Given the description of an element on the screen output the (x, y) to click on. 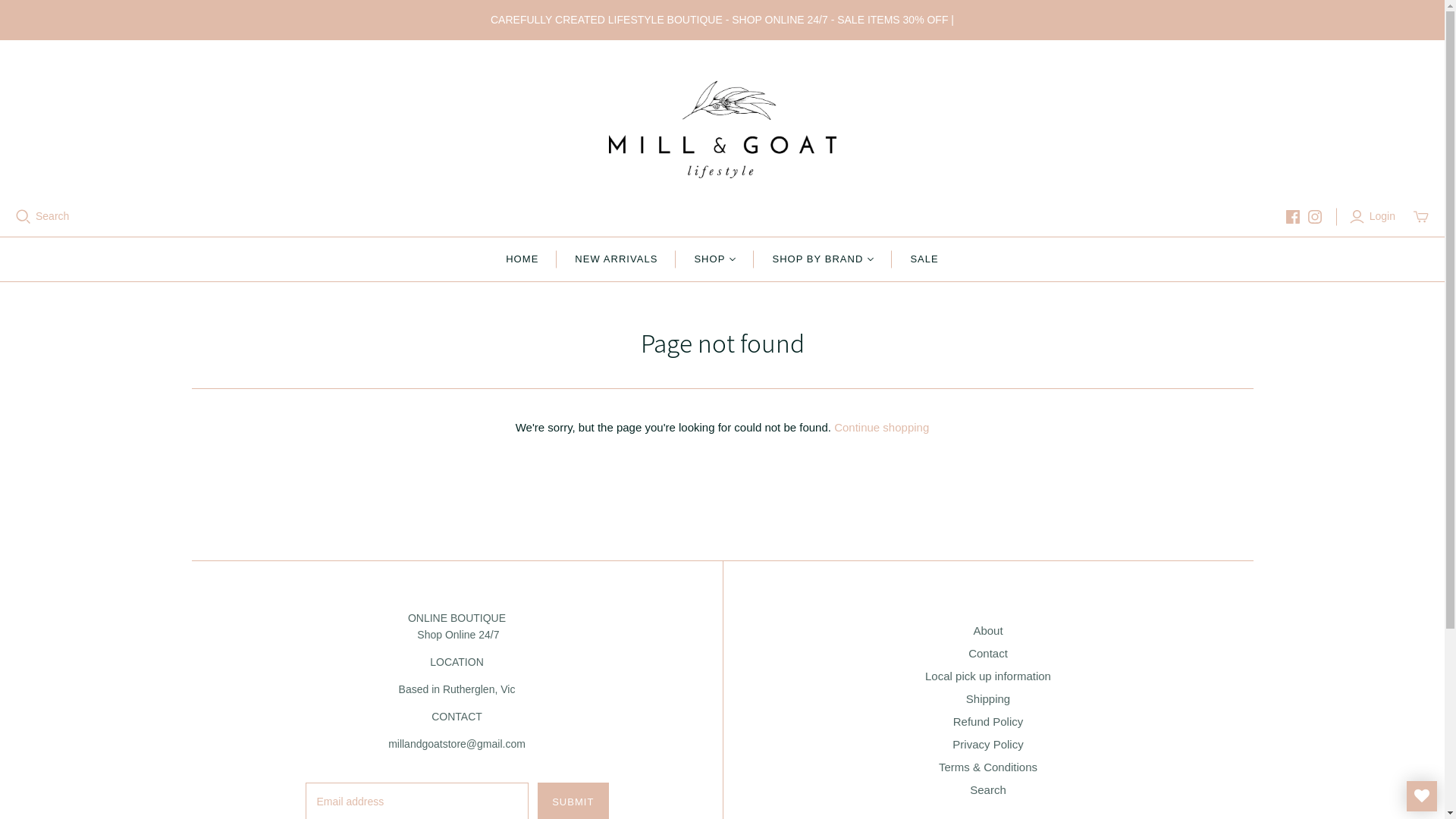
Contact Element type: text (987, 652)
MY WISHLIST Element type: text (1421, 796)
Shipping Element type: text (988, 698)
Privacy Policy Element type: text (987, 743)
SALE Element type: text (923, 259)
Continue shopping Element type: text (881, 426)
Terms & Conditions Element type: text (987, 766)
Local pick up information Element type: text (988, 675)
NEW ARRIVALS Element type: text (615, 259)
Refund Policy Element type: text (988, 721)
HOME Element type: text (521, 259)
Search Element type: text (987, 789)
Login Element type: text (1374, 216)
About Element type: text (987, 630)
